Given the description of an element on the screen output the (x, y) to click on. 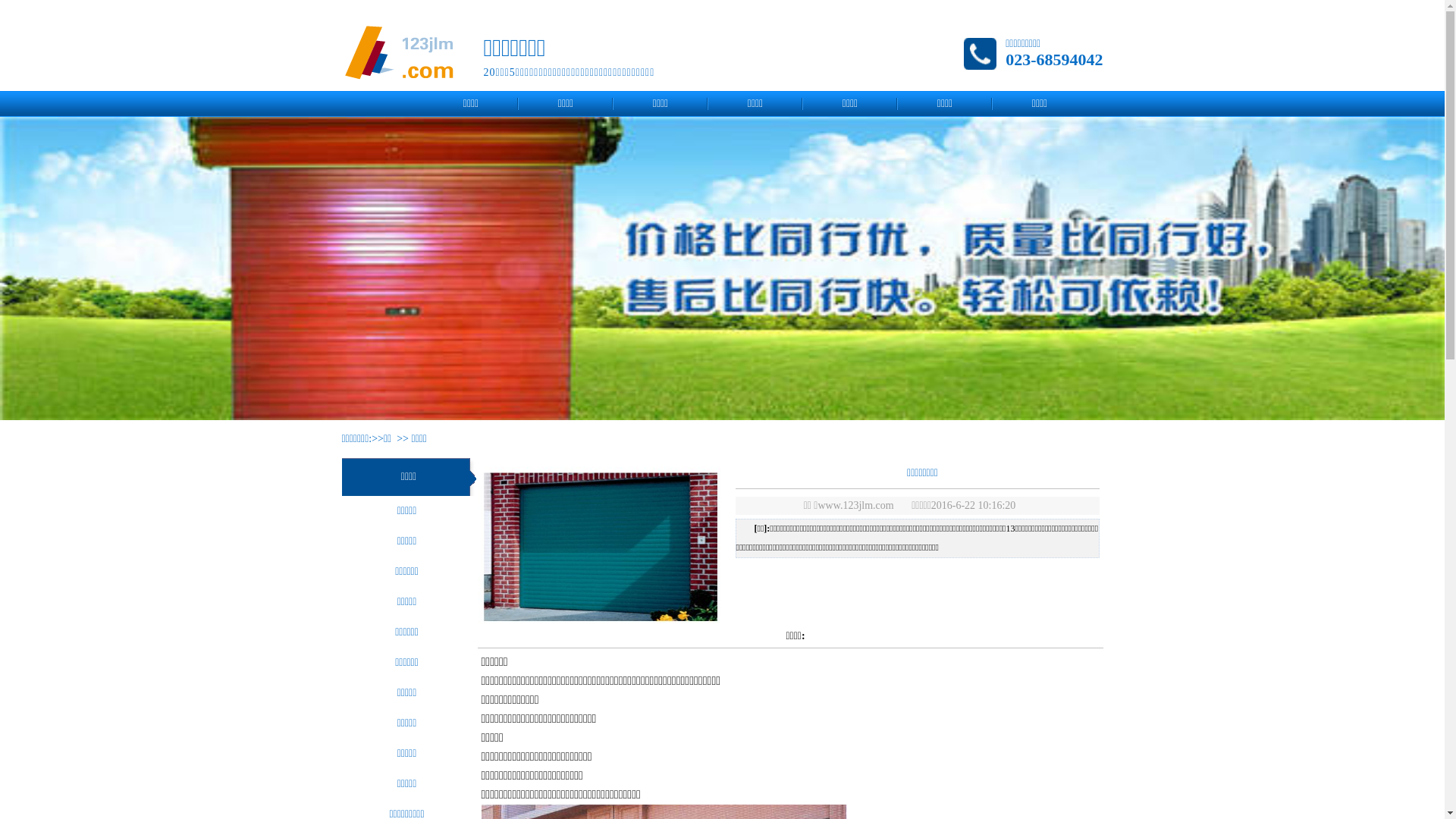
1 Element type: text (713, 406)
2 Element type: text (731, 406)
